Given the description of an element on the screen output the (x, y) to click on. 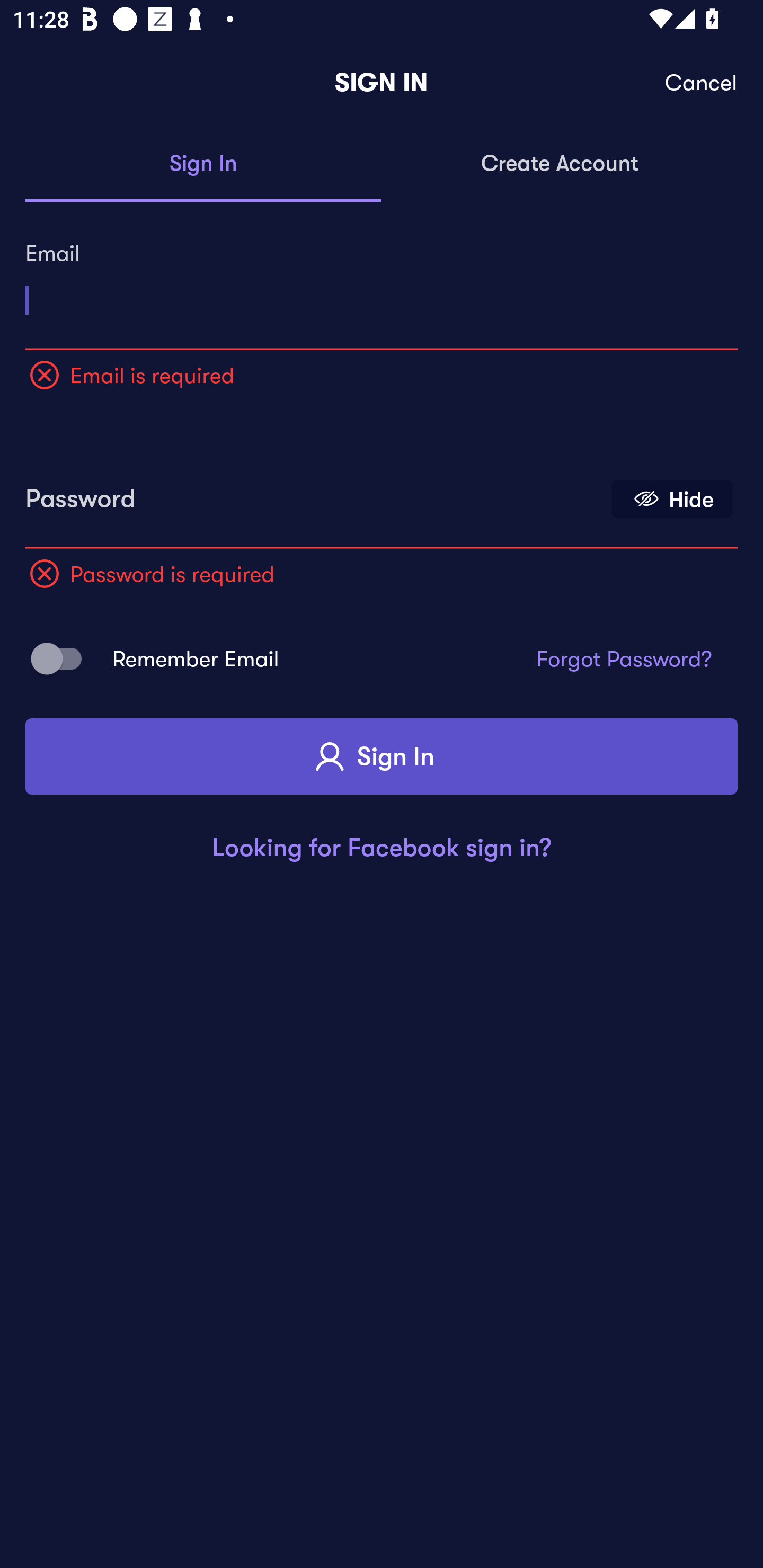
Cancel (701, 82)
Sign In (203, 164)
Create Account (559, 164)
Email, error message, Email is required (381, 293)
Password, error message, Password is required (314, 493)
Show Password Hide (671, 498)
Remember Email (62, 658)
Sign In (381, 756)
